Given the description of an element on the screen output the (x, y) to click on. 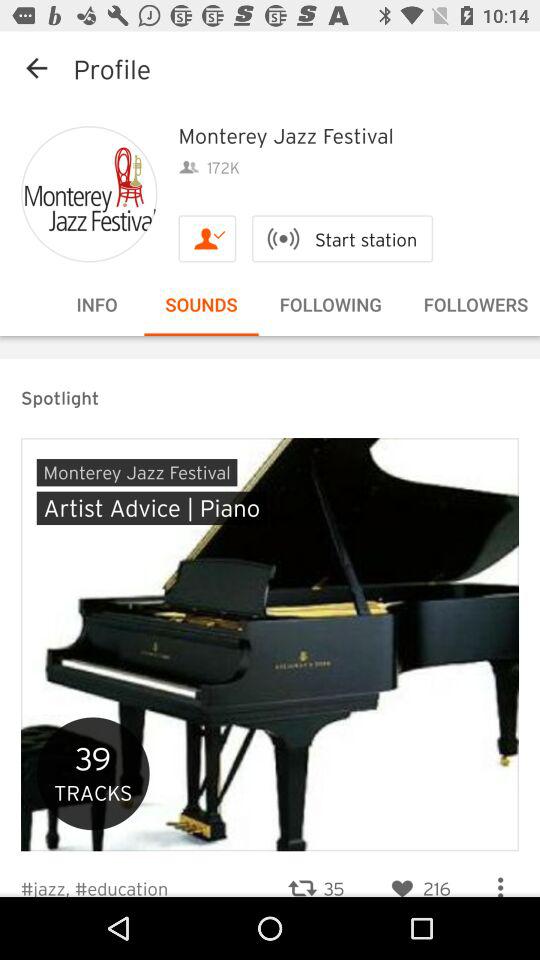
flip until 216 (418, 876)
